Given the description of an element on the screen output the (x, y) to click on. 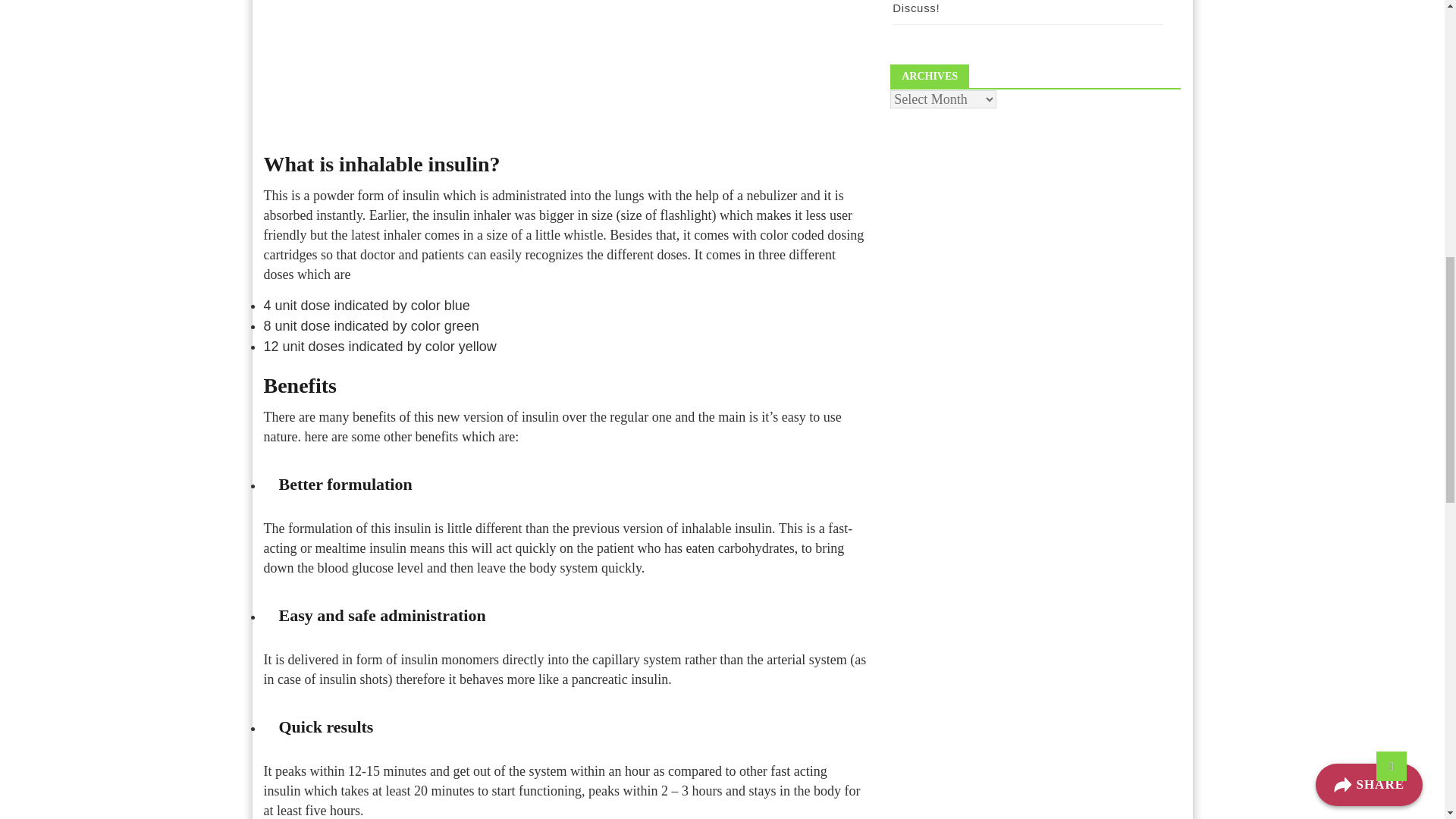
inhalable insulin (565, 65)
